Given the description of an element on the screen output the (x, y) to click on. 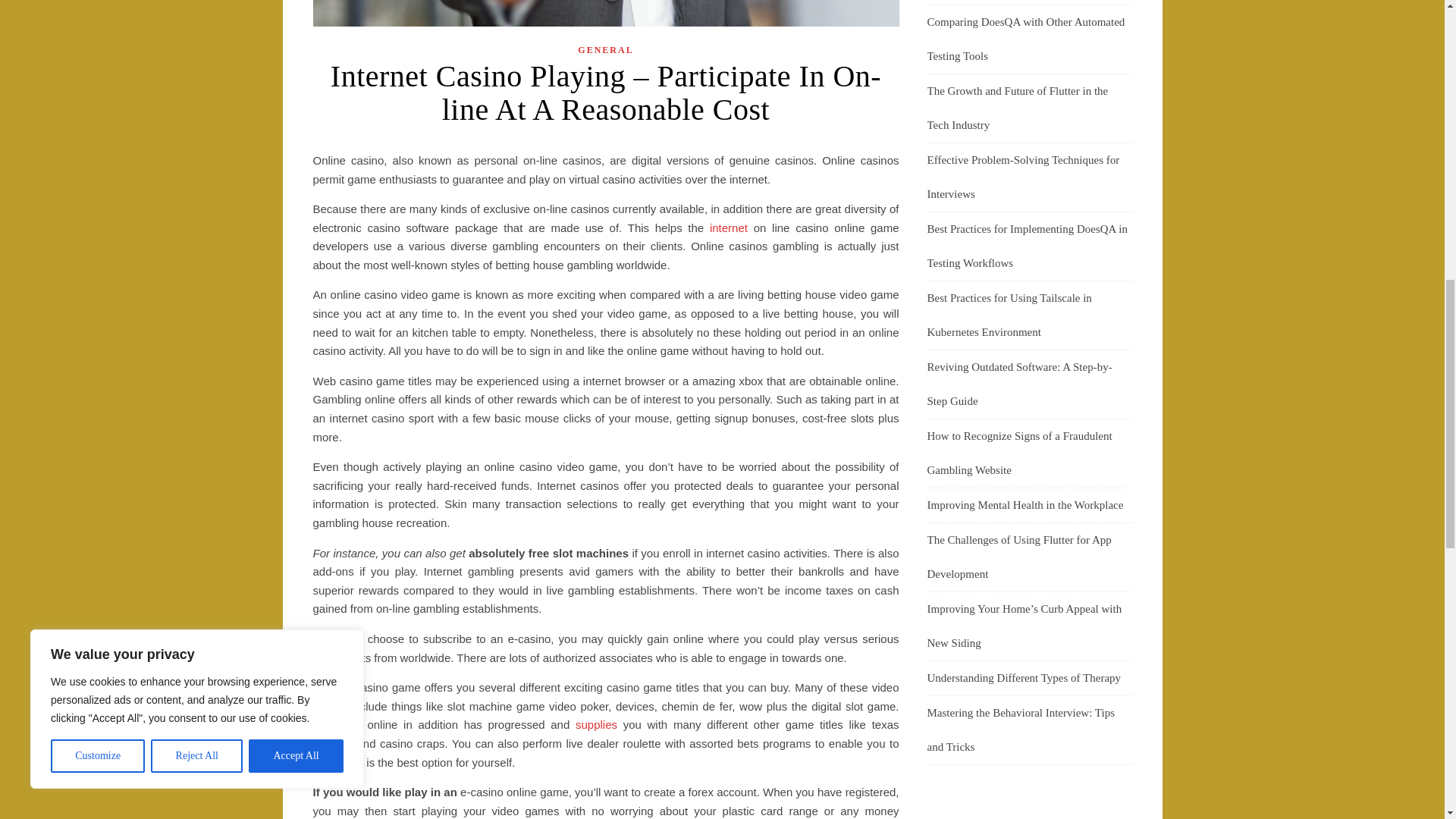
GENERAL (605, 49)
internet (729, 227)
supplies (596, 724)
